Given the description of an element on the screen output the (x, y) to click on. 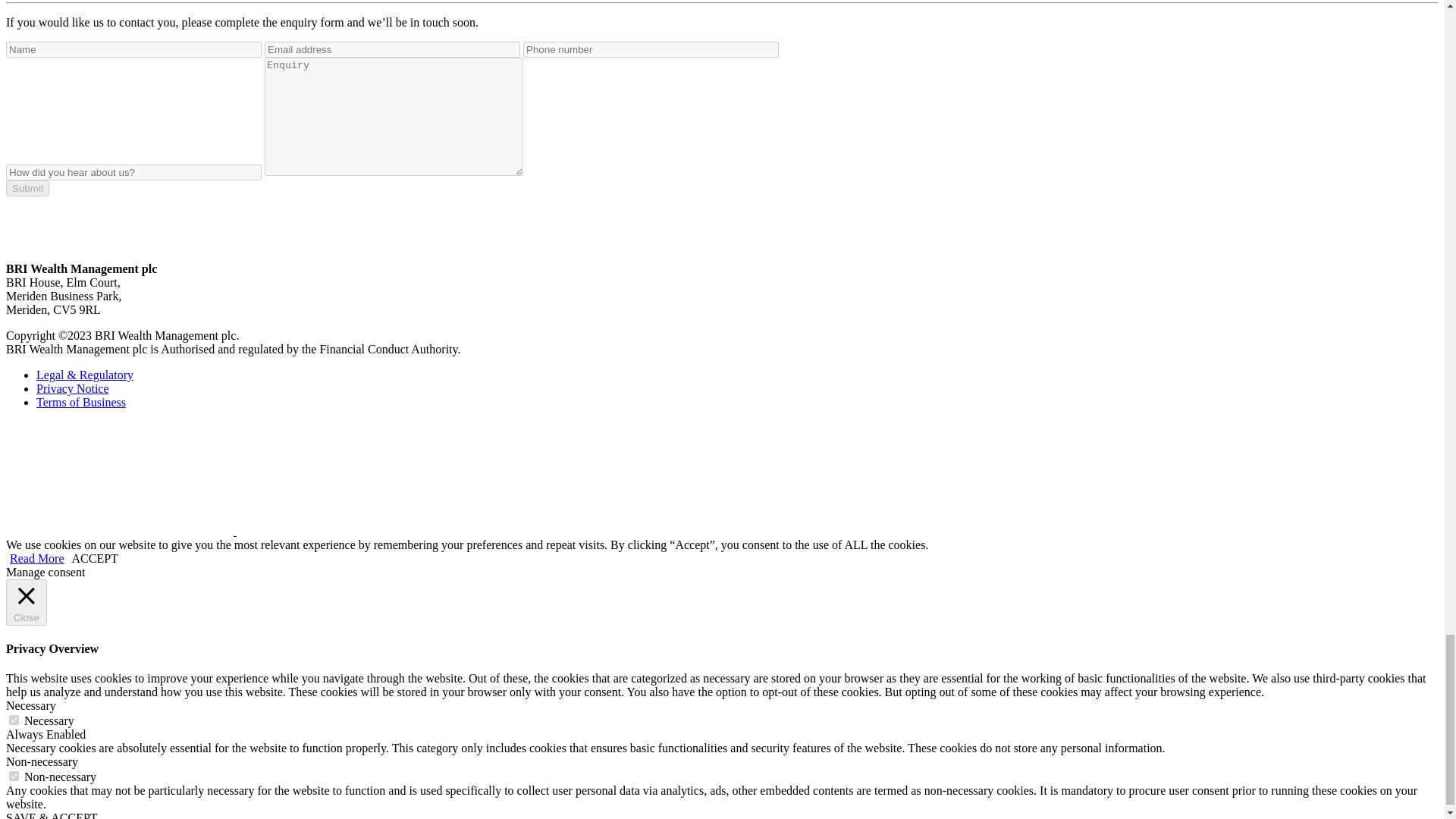
on (13, 776)
ACCEPT (94, 558)
on (13, 719)
Twitter (349, 530)
Twitter (349, 478)
Submit (27, 188)
BRI Wealth Management (94, 221)
Submit (27, 188)
Linkedin (120, 530)
Linkedin (118, 478)
